Given the description of an element on the screen output the (x, y) to click on. 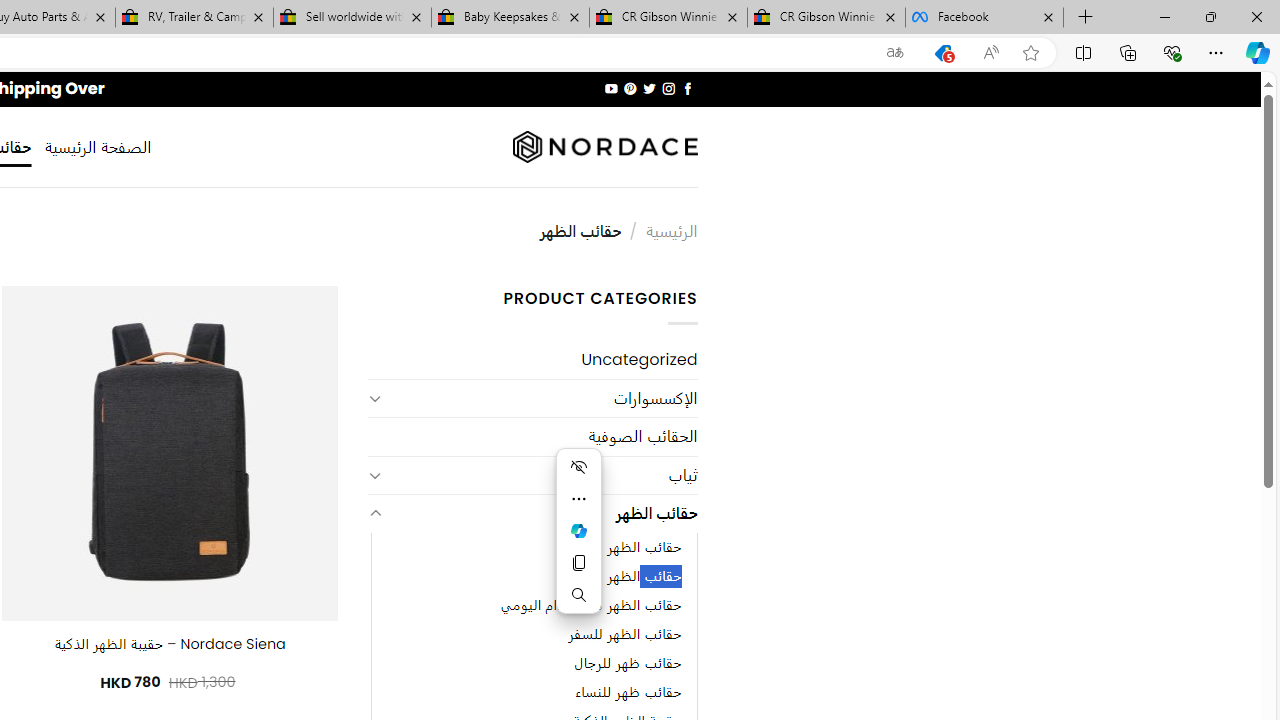
Follow on YouTube (611, 88)
